Given the description of an element on the screen output the (x, y) to click on. 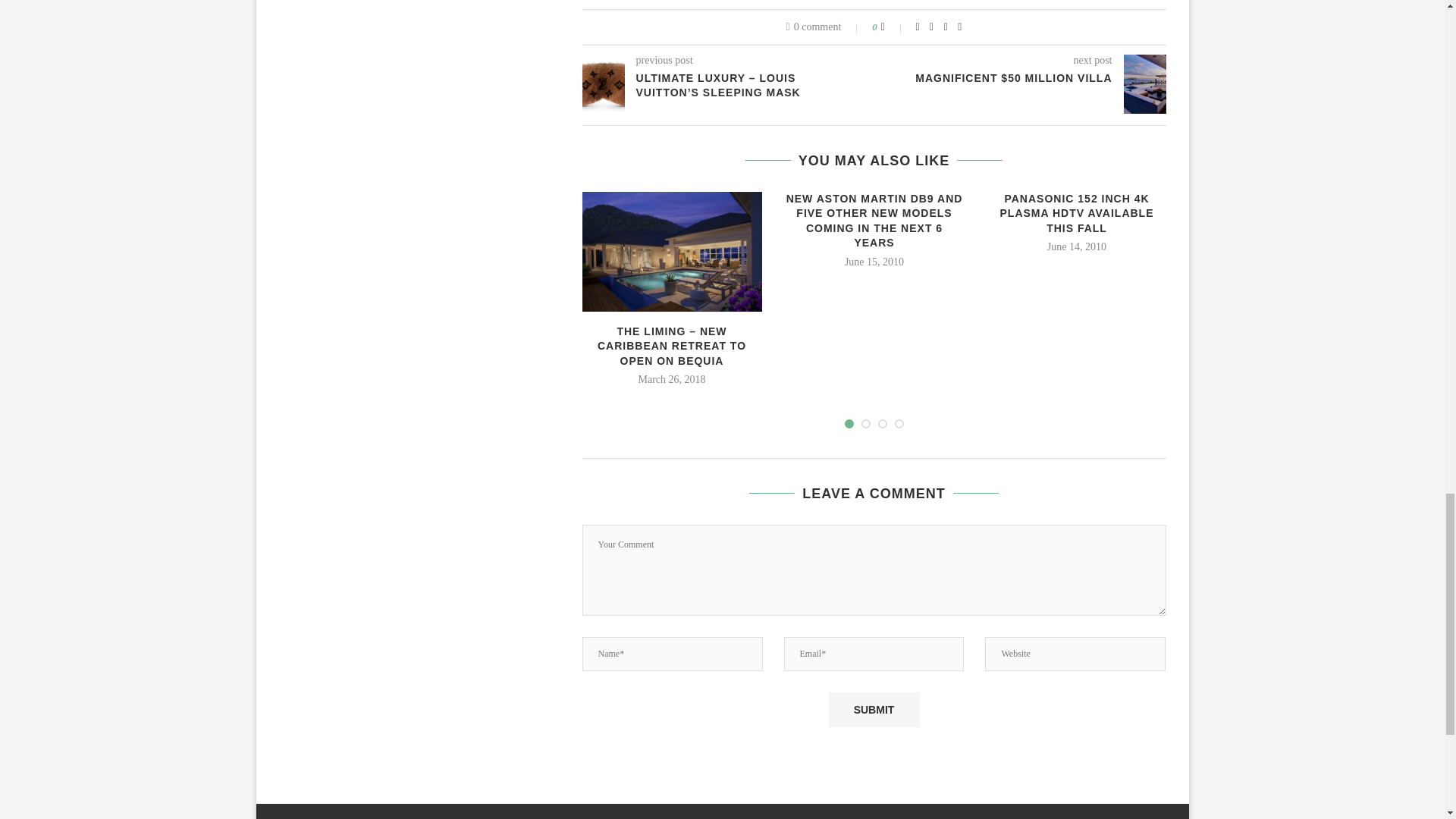
Submit (873, 709)
Like (892, 27)
